Given the description of an element on the screen output the (x, y) to click on. 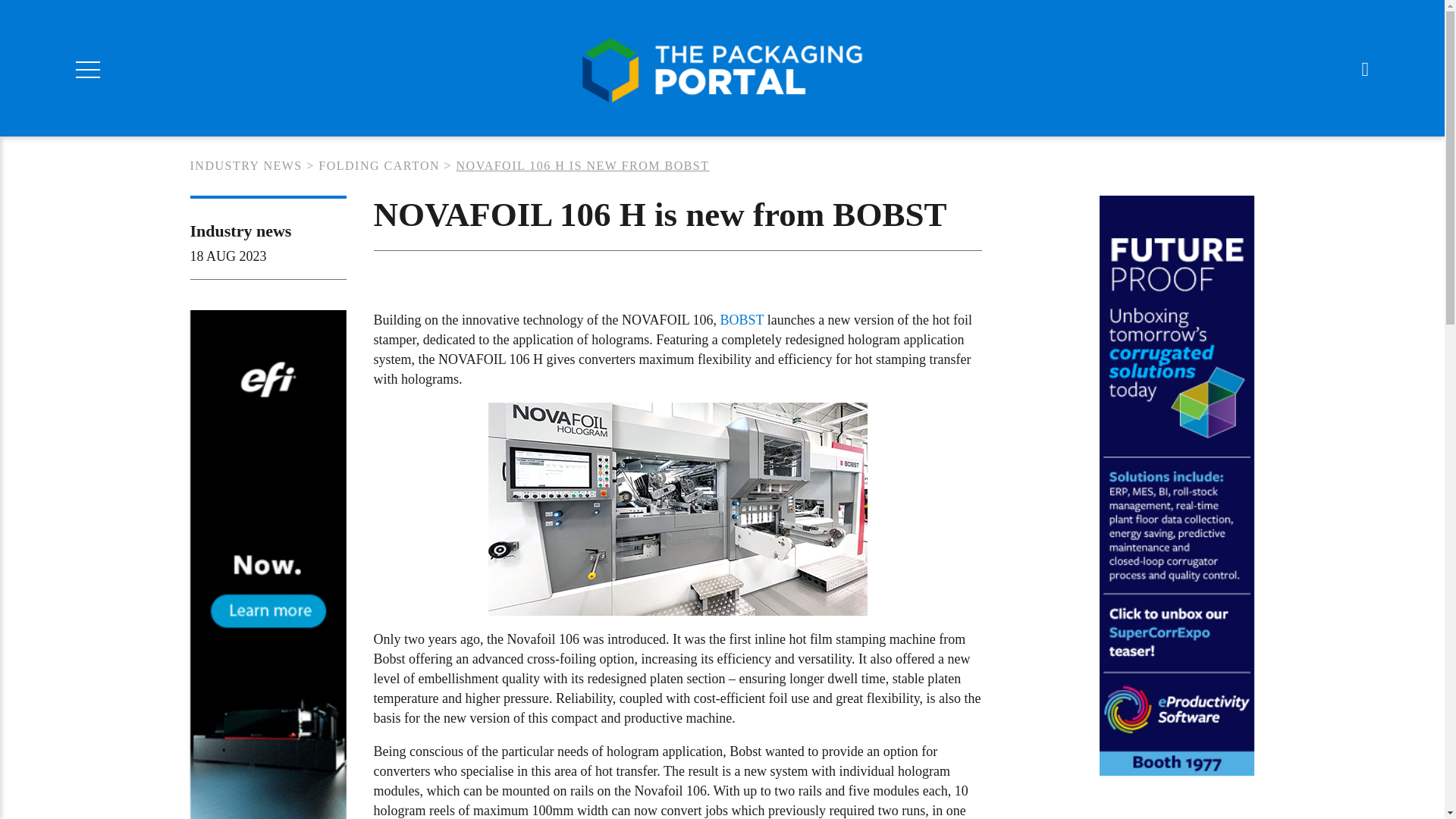
INDUSTRY NEWS (245, 164)
FOLDING CARTON (378, 164)
Go to Industry news. (245, 164)
BOBST (740, 319)
Go to the Folding Carton Categories archives. (378, 164)
